Given the description of an element on the screen output the (x, y) to click on. 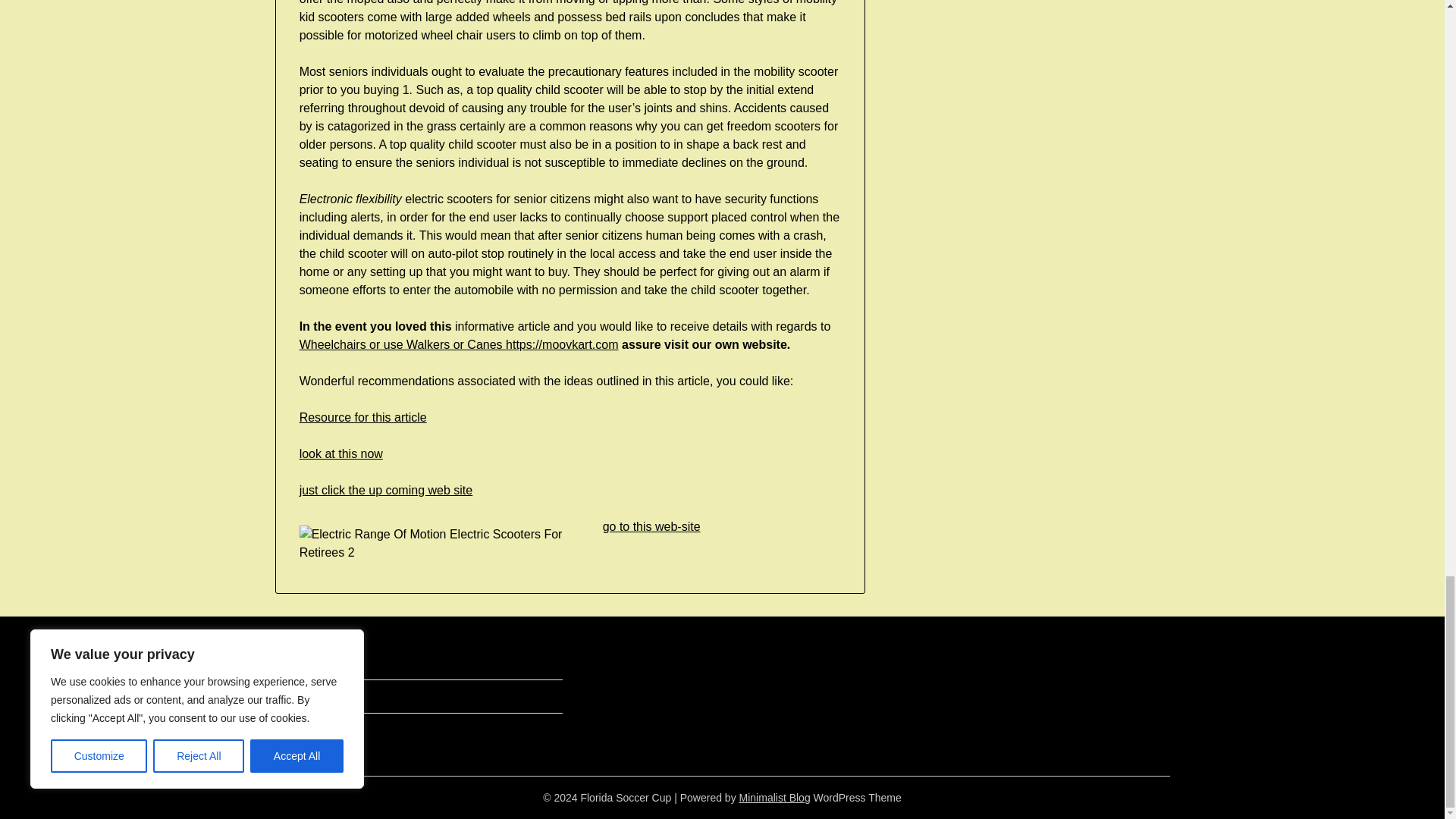
look at this now (340, 453)
just click the up coming web site (386, 490)
go to this web-site (651, 526)
Resource for this article (362, 417)
